Given the description of an element on the screen output the (x, y) to click on. 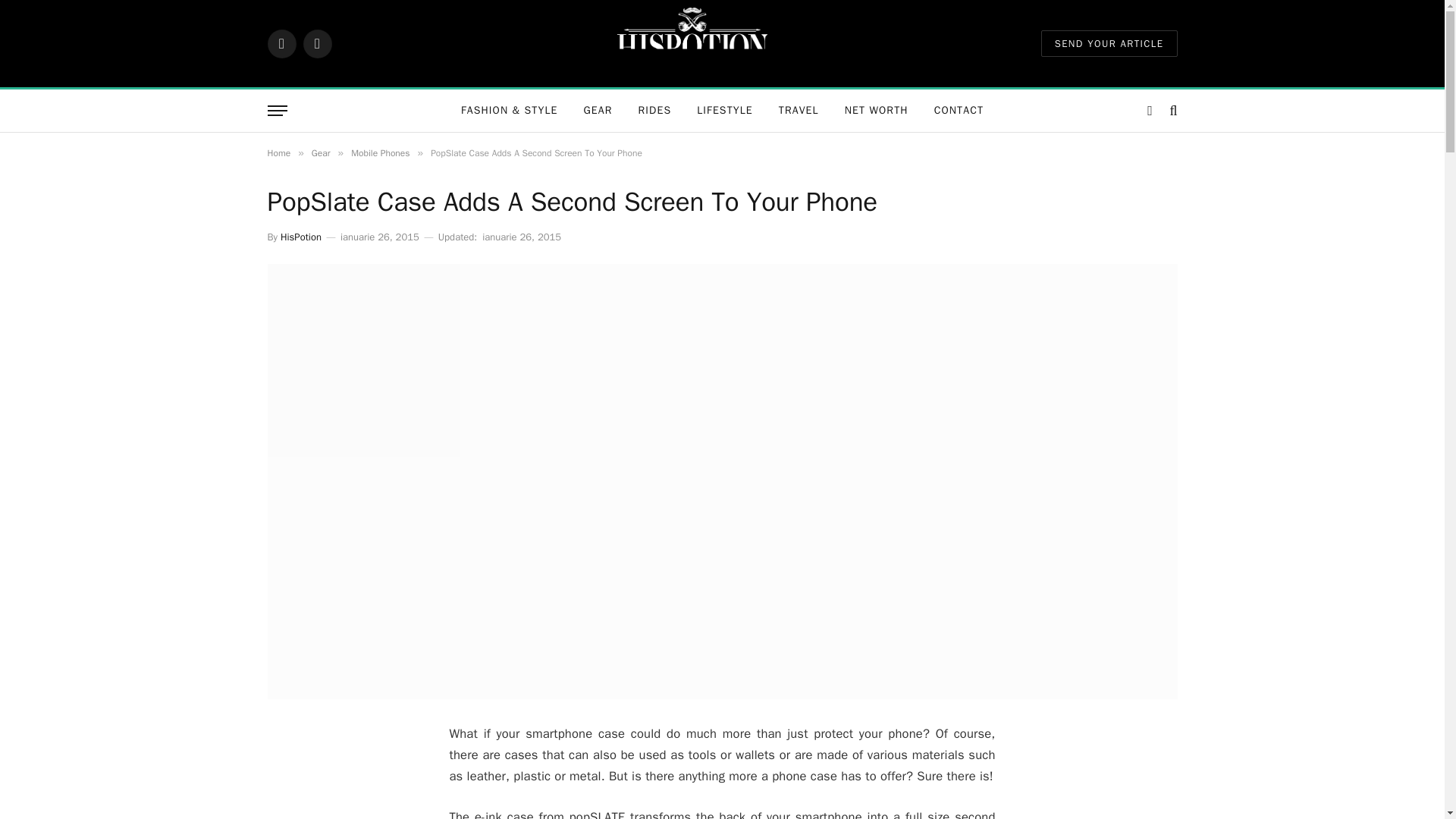
Gear (320, 152)
SEND YOUR ARTICLE (1109, 43)
Articole de HisPotion (301, 236)
Home (277, 152)
CONTACT (958, 110)
HisPotion (301, 236)
Switch to Dark Design - easier on eyes. (1149, 110)
LIFESTYLE (724, 110)
TRAVEL (798, 110)
